Given the description of an element on the screen output the (x, y) to click on. 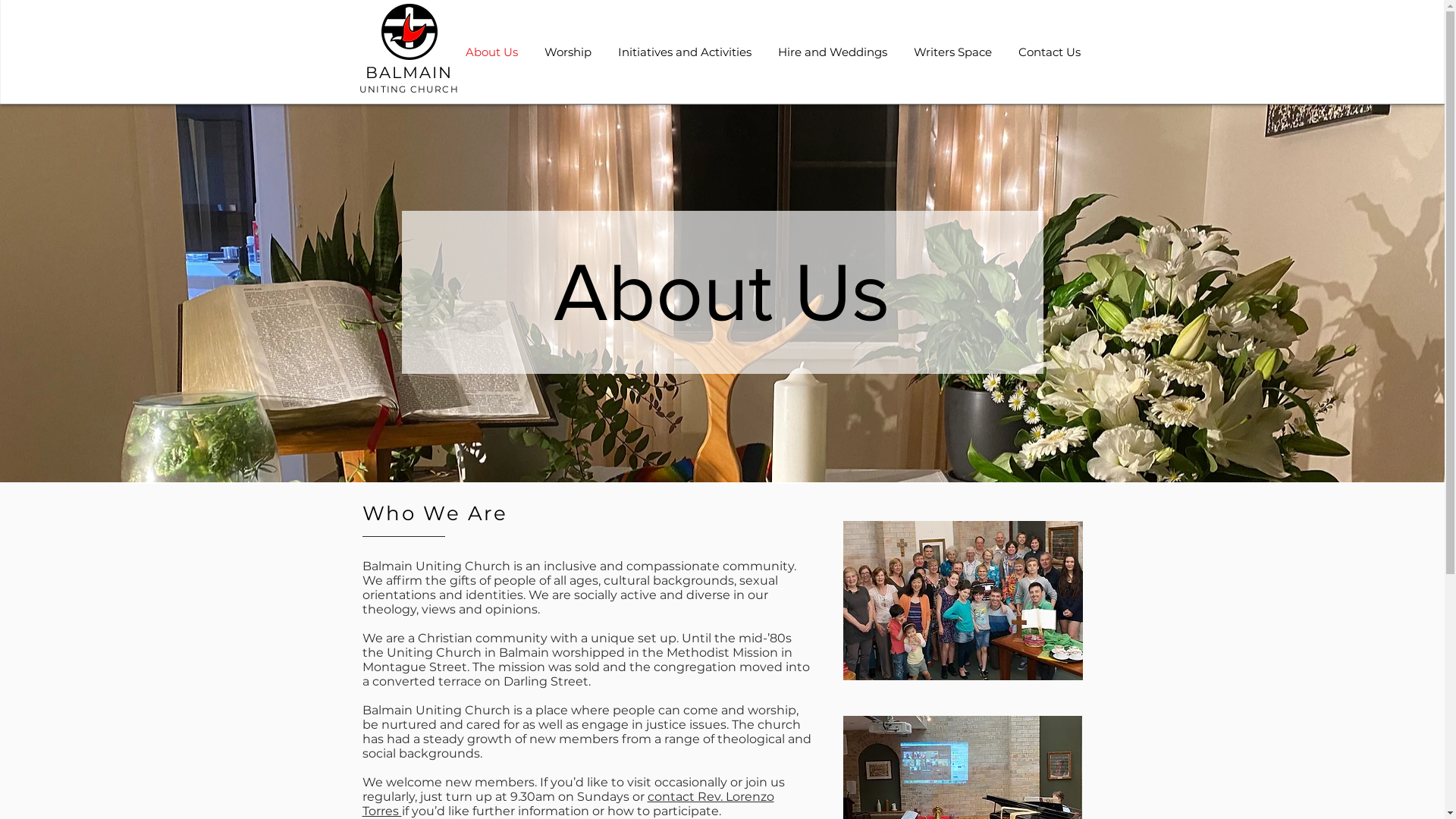
About Us Element type: text (490, 52)
contact Rev. Lorenzo Torres  Element type: text (568, 803)
BALMAIN Element type: text (409, 72)
Hire and Weddings Element type: text (832, 52)
Contact Us Element type: text (1049, 52)
Writers Space Element type: text (952, 52)
Worship Element type: text (567, 52)
UNITING CHURCH Element type: text (408, 88)
